Given the description of an element on the screen output the (x, y) to click on. 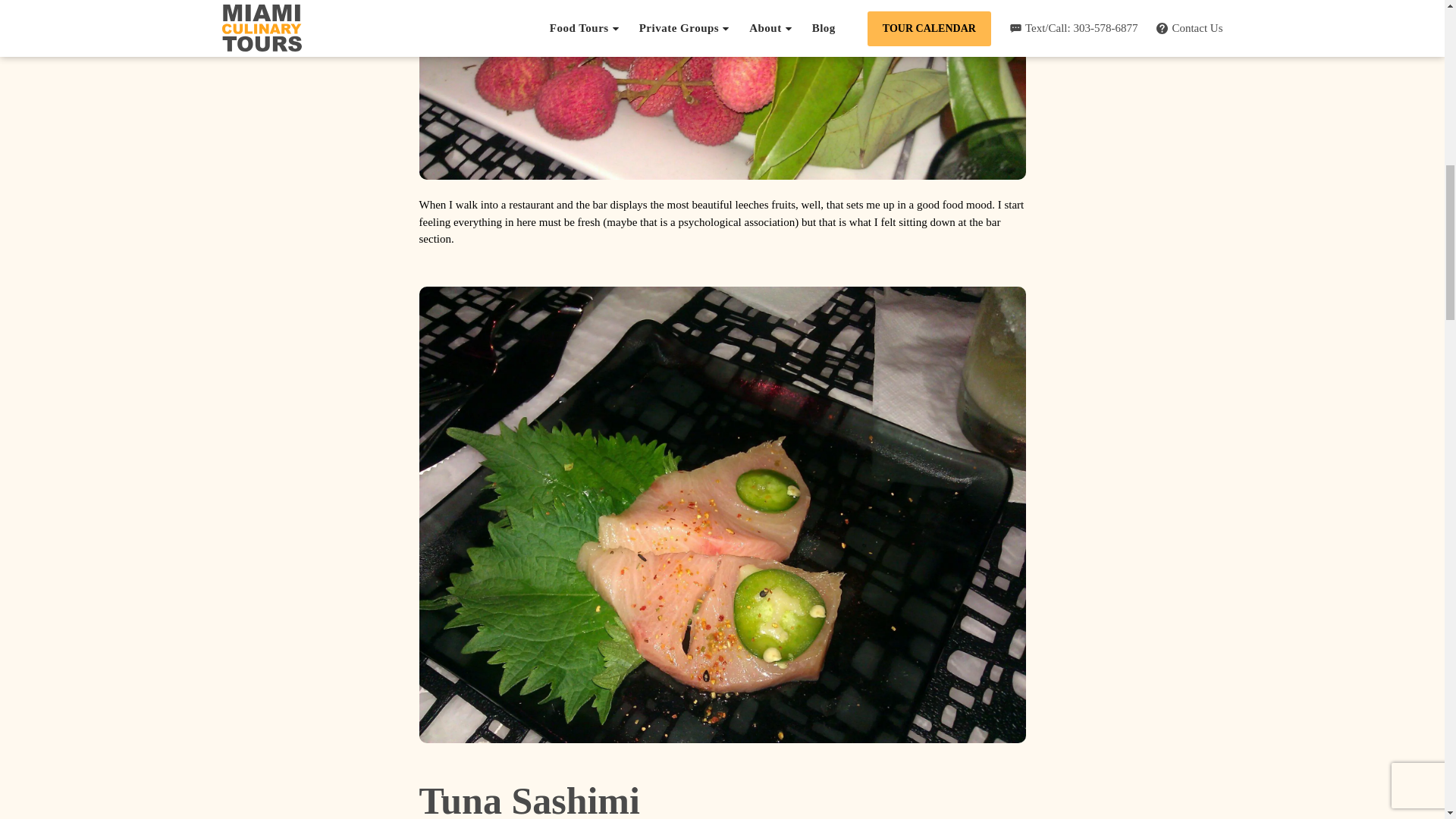
FareHarbor (1342, 64)
leeches fruit (722, 89)
